Given the description of an element on the screen output the (x, y) to click on. 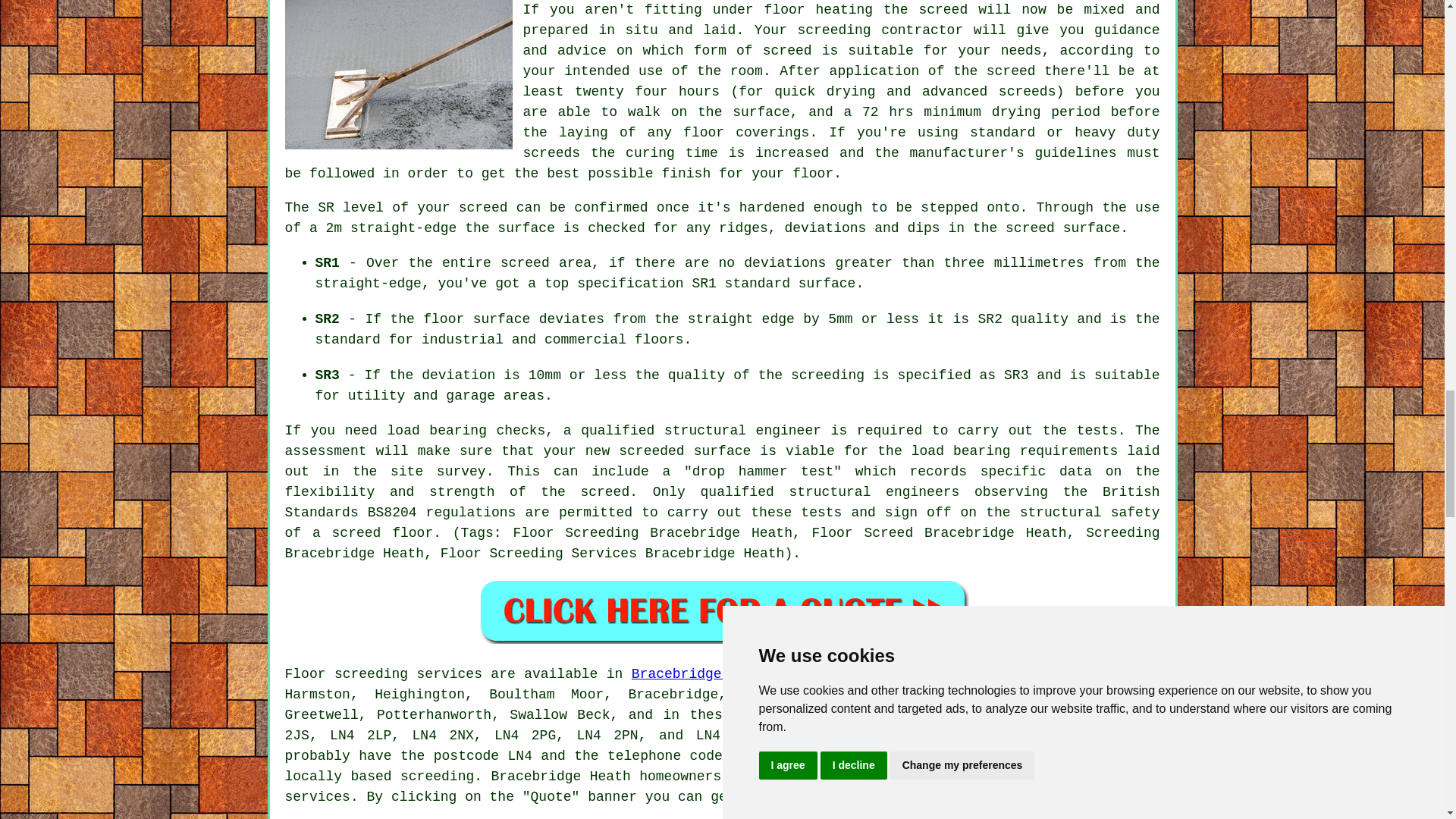
Book a Screeder in Bracebridge Heath UK (722, 610)
floor screeders (1051, 735)
